Given the description of an element on the screen output the (x, y) to click on. 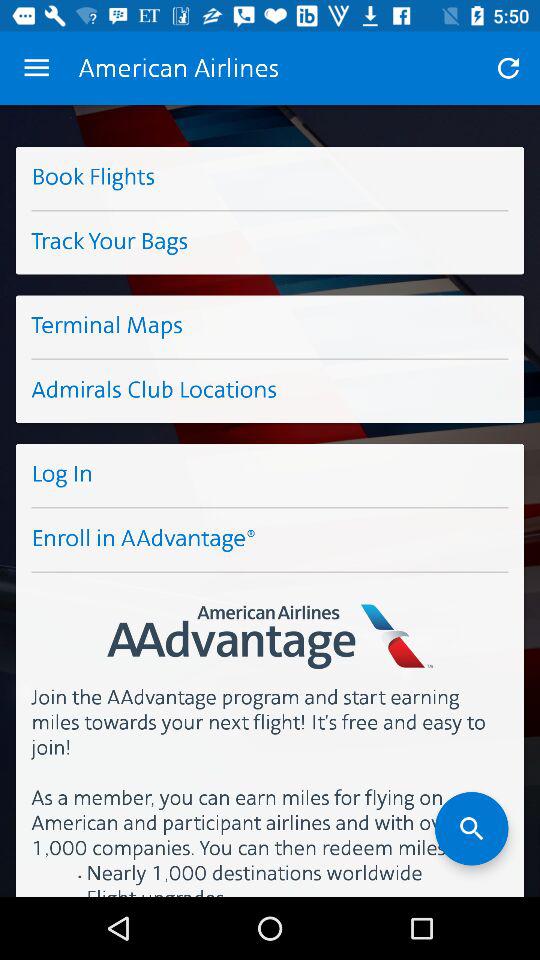
click icon at the bottom right corner (471, 828)
